Given the description of an element on the screen output the (x, y) to click on. 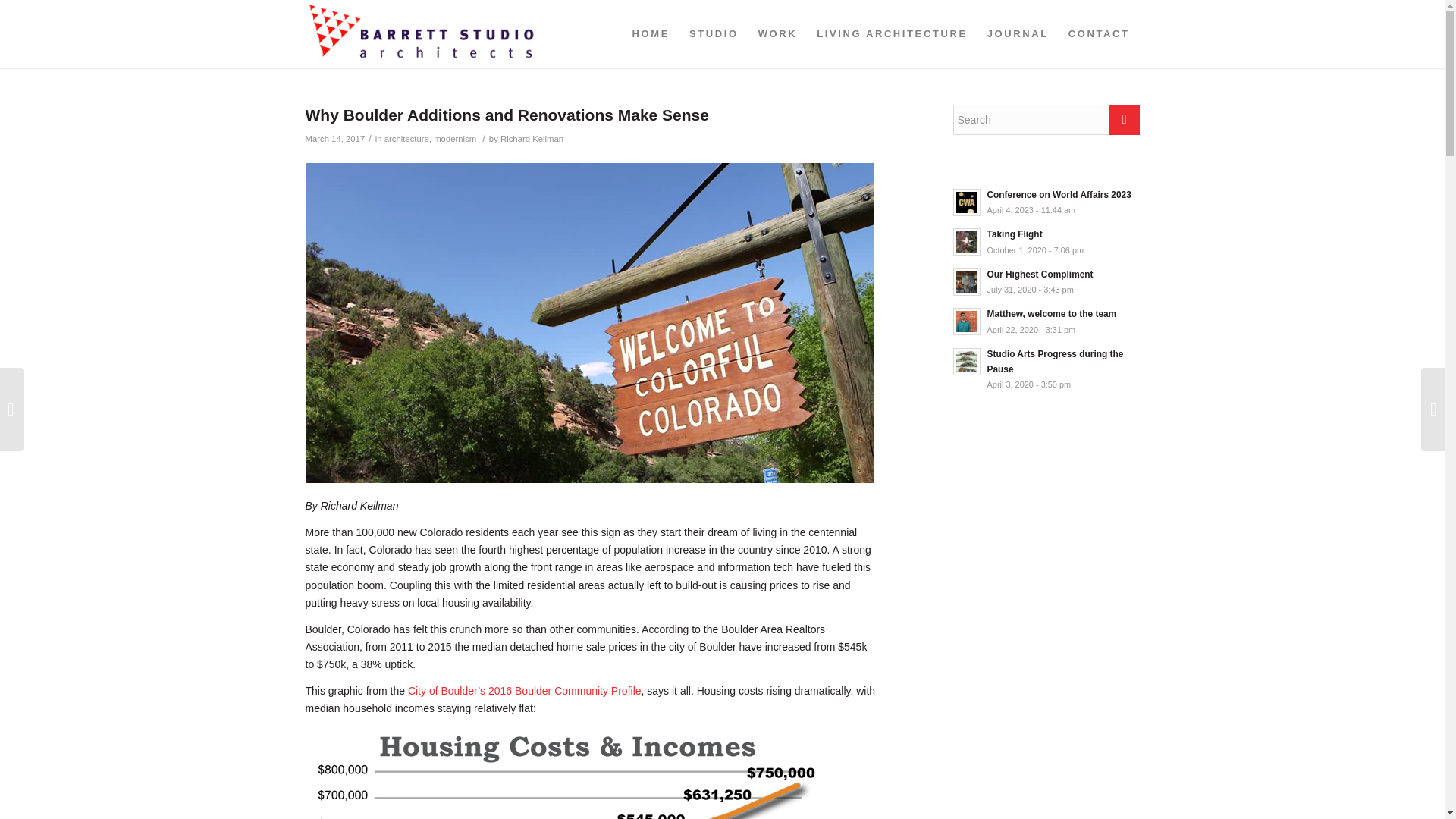
Subscribe (39, 12)
STUDIO (713, 33)
architecture (1045, 281)
Our Highest Compliment (1045, 320)
Conference on World Affairs 2023 (1045, 201)
CONTACT (406, 138)
Richard Keilman (1045, 281)
